Given the description of an element on the screen output the (x, y) to click on. 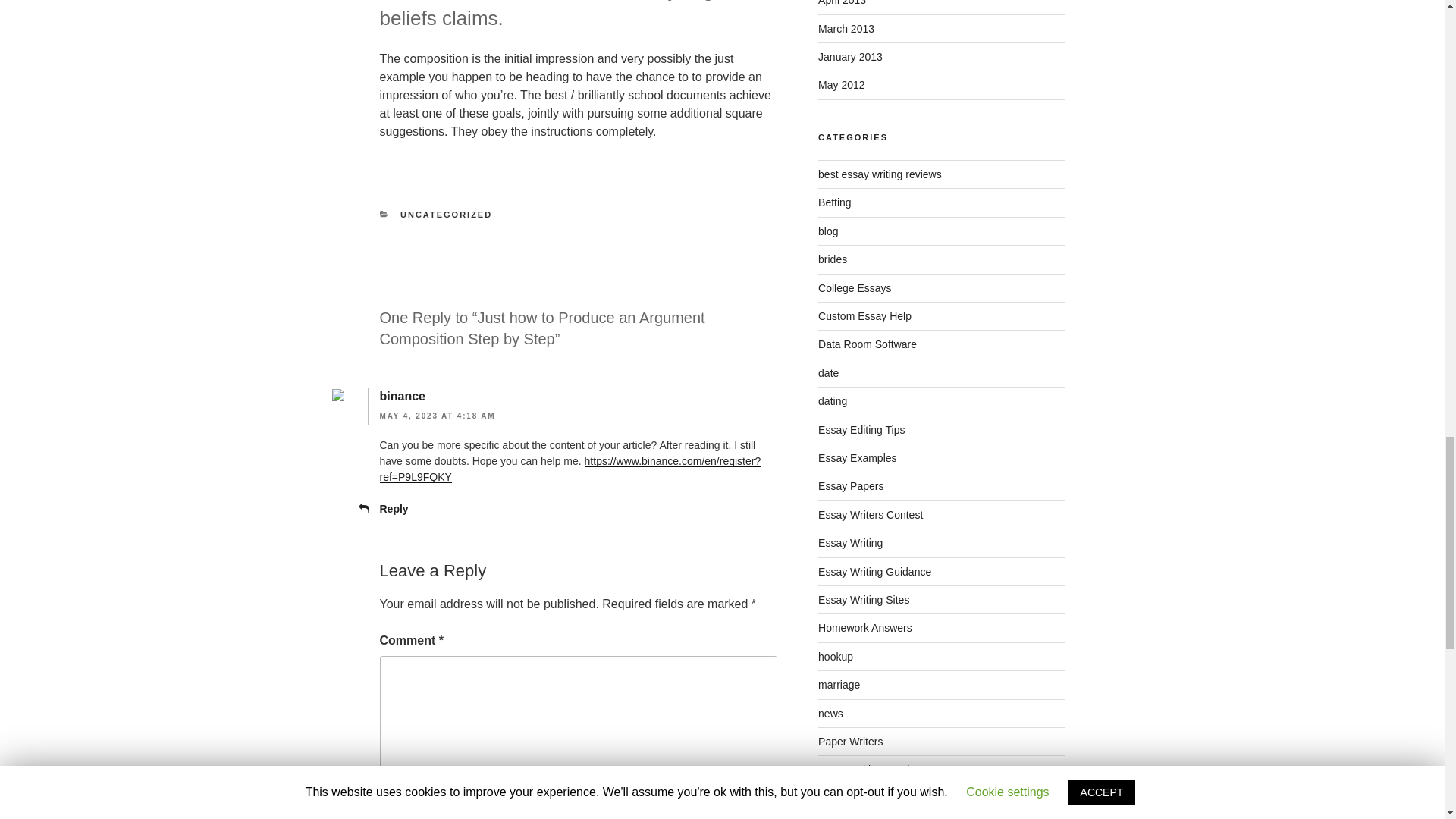
MAY 4, 2023 AT 4:18 AM (436, 415)
binance (401, 395)
UNCATEGORIZED (446, 214)
Reply (392, 508)
